Given the description of an element on the screen output the (x, y) to click on. 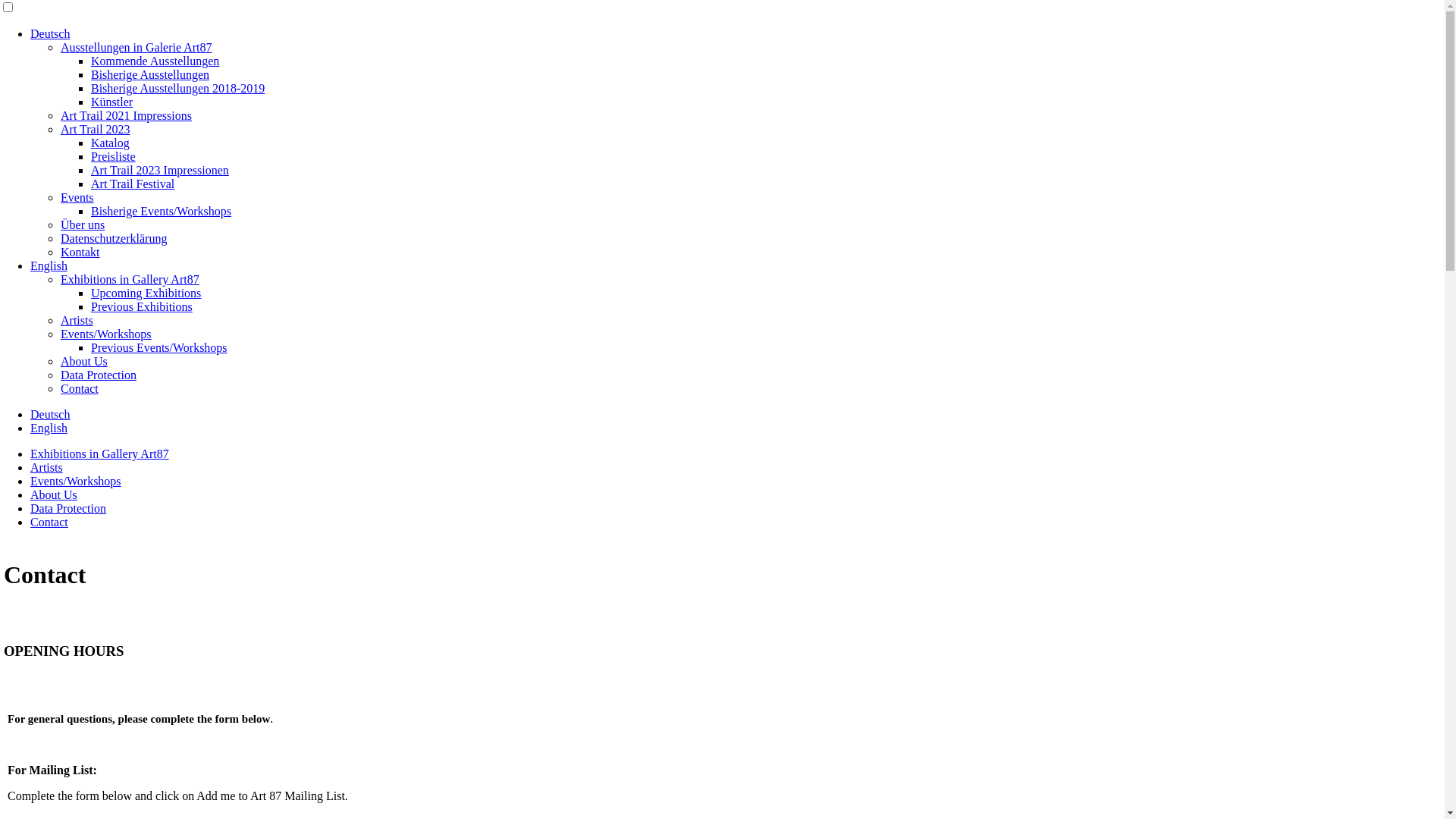
About Us Element type: text (53, 494)
English Element type: text (48, 427)
Contact Element type: text (79, 388)
Art Trail 2023 Element type: text (95, 128)
Deutsch Element type: text (49, 33)
Katalog Element type: text (110, 142)
Exhibitions in Gallery Art87 Element type: text (129, 279)
Kontakt Element type: text (80, 251)
Art Trail 2021 Impressions Element type: text (125, 115)
Preisliste Element type: text (113, 156)
Previous Exhibitions Element type: text (141, 306)
Ausstellungen in Galerie Art87 Element type: text (136, 46)
Previous Events/Workshops Element type: text (159, 347)
Contact Element type: text (49, 521)
Art Trail 2023 Impressionen Element type: text (160, 169)
Kommende Ausstellungen Element type: text (155, 60)
Bisherige Events/Workshops Element type: text (161, 210)
Data Protection Element type: text (68, 508)
Events/Workshops Element type: text (75, 480)
Artists Element type: text (76, 319)
Artists Element type: text (46, 467)
Events/Workshops Element type: text (105, 333)
Bisherige Ausstellungen 2018-2019 Element type: text (177, 87)
Events Element type: text (77, 197)
Bisherige Ausstellungen Element type: text (150, 74)
Art Trail Festival Element type: text (132, 183)
Deutsch Element type: text (49, 413)
Data Protection Element type: text (98, 374)
Exhibitions in Gallery Art87 Element type: text (99, 453)
English Element type: text (48, 265)
Upcoming Exhibitions Element type: text (145, 292)
About Us Element type: text (83, 360)
